Given the description of an element on the screen output the (x, y) to click on. 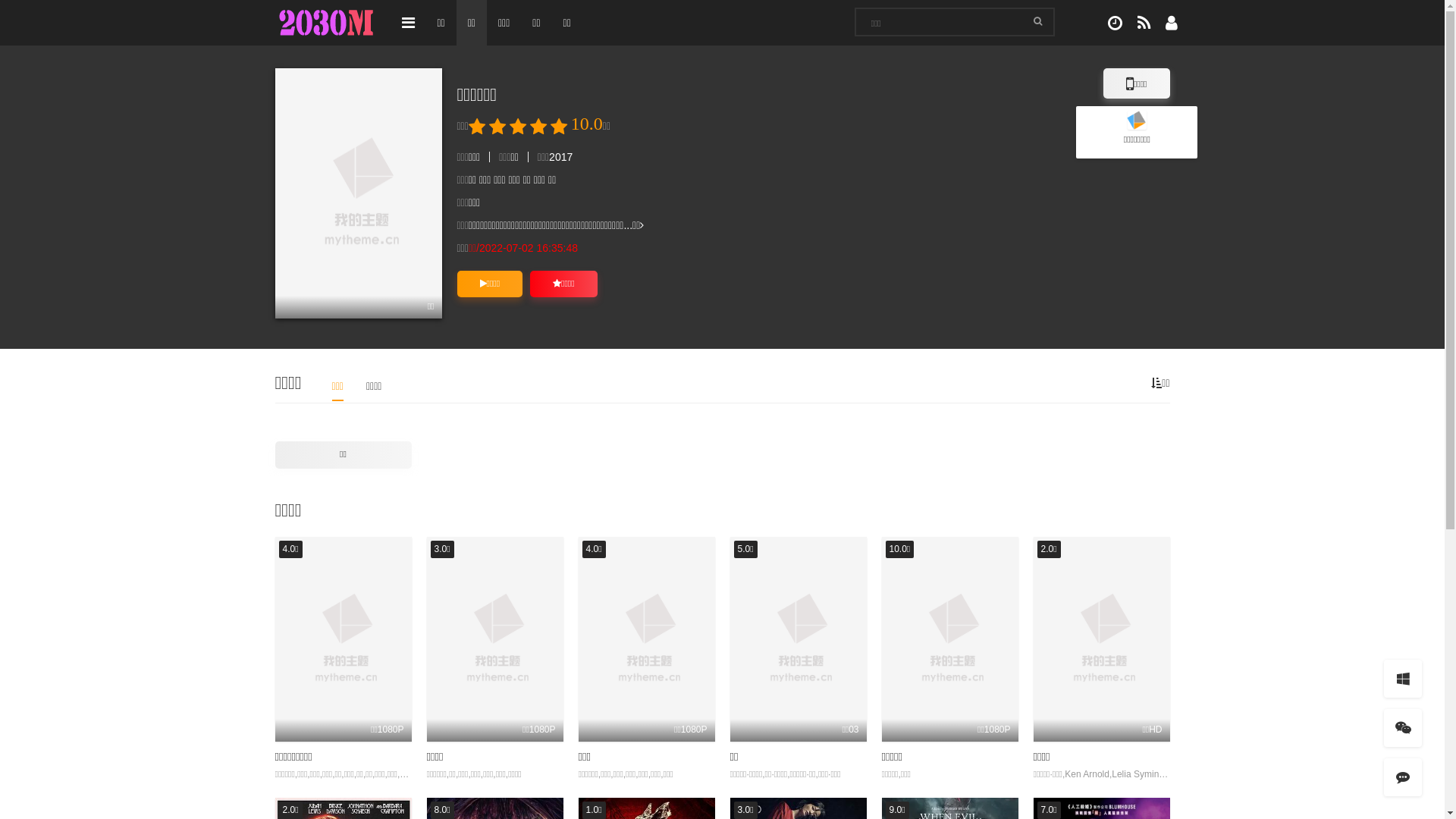
2017 Element type: text (560, 156)
